Given the description of an element on the screen output the (x, y) to click on. 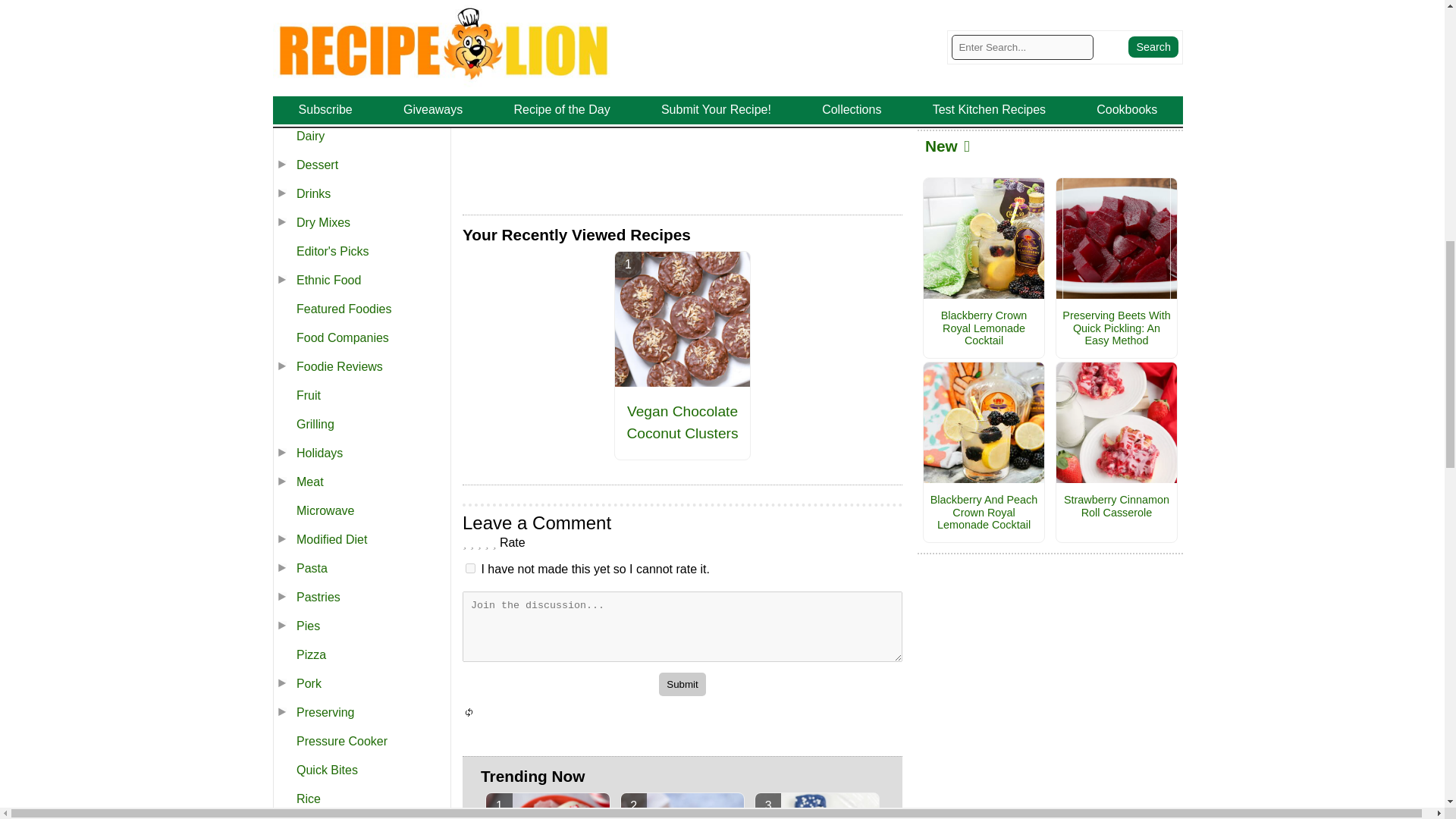
Insticator Content Engagement Unit (576, 123)
Submit (681, 684)
1 (470, 568)
